Given the description of an element on the screen output the (x, y) to click on. 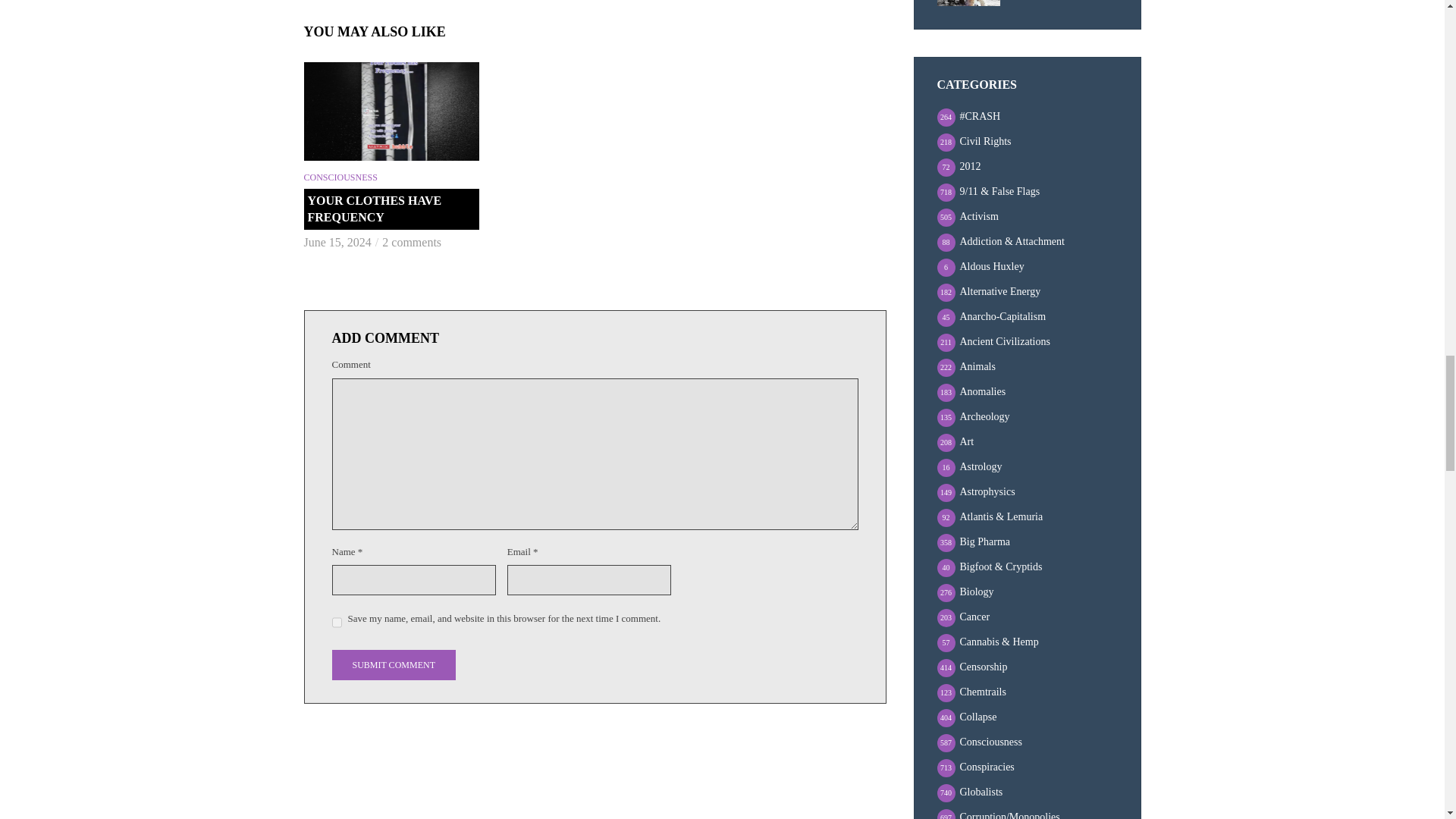
Your Clothes Have Frequency (390, 111)
yes (336, 622)
Submit Comment (393, 665)
